Given the description of an element on the screen output the (x, y) to click on. 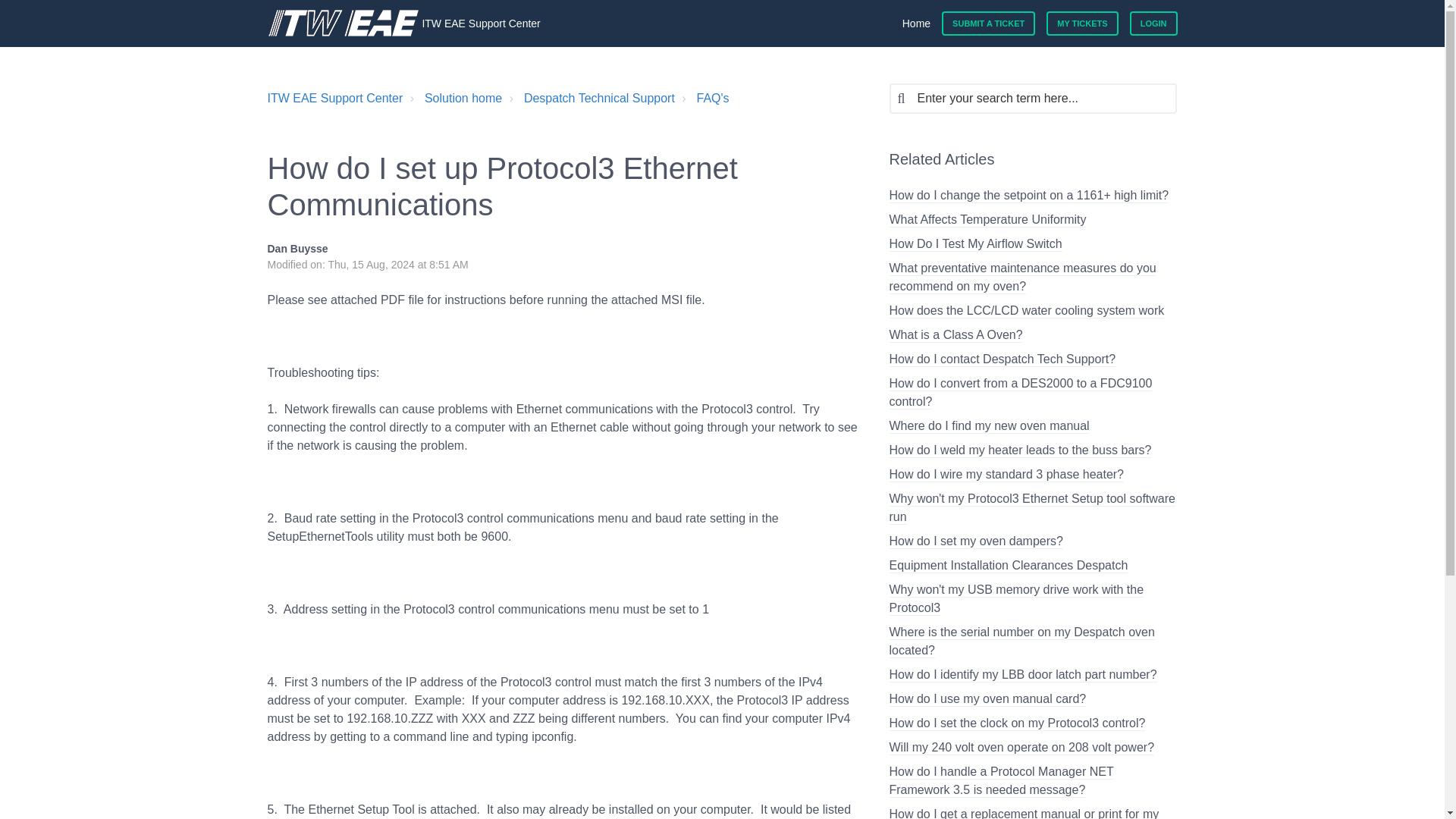
LOGIN (1153, 23)
How do I use my oven manual card? (987, 699)
What Affects Temperature Uniformity (987, 219)
MY TICKETS (1082, 23)
Solution home (454, 98)
FAQ's (713, 97)
How do I weld my heater leads to the buss bars? (1019, 450)
Will my 240 volt oven operate on 208 volt power? (1021, 748)
Despatch Technical Support (590, 98)
How Do I Test My Airflow Switch (974, 244)
